Given the description of an element on the screen output the (x, y) to click on. 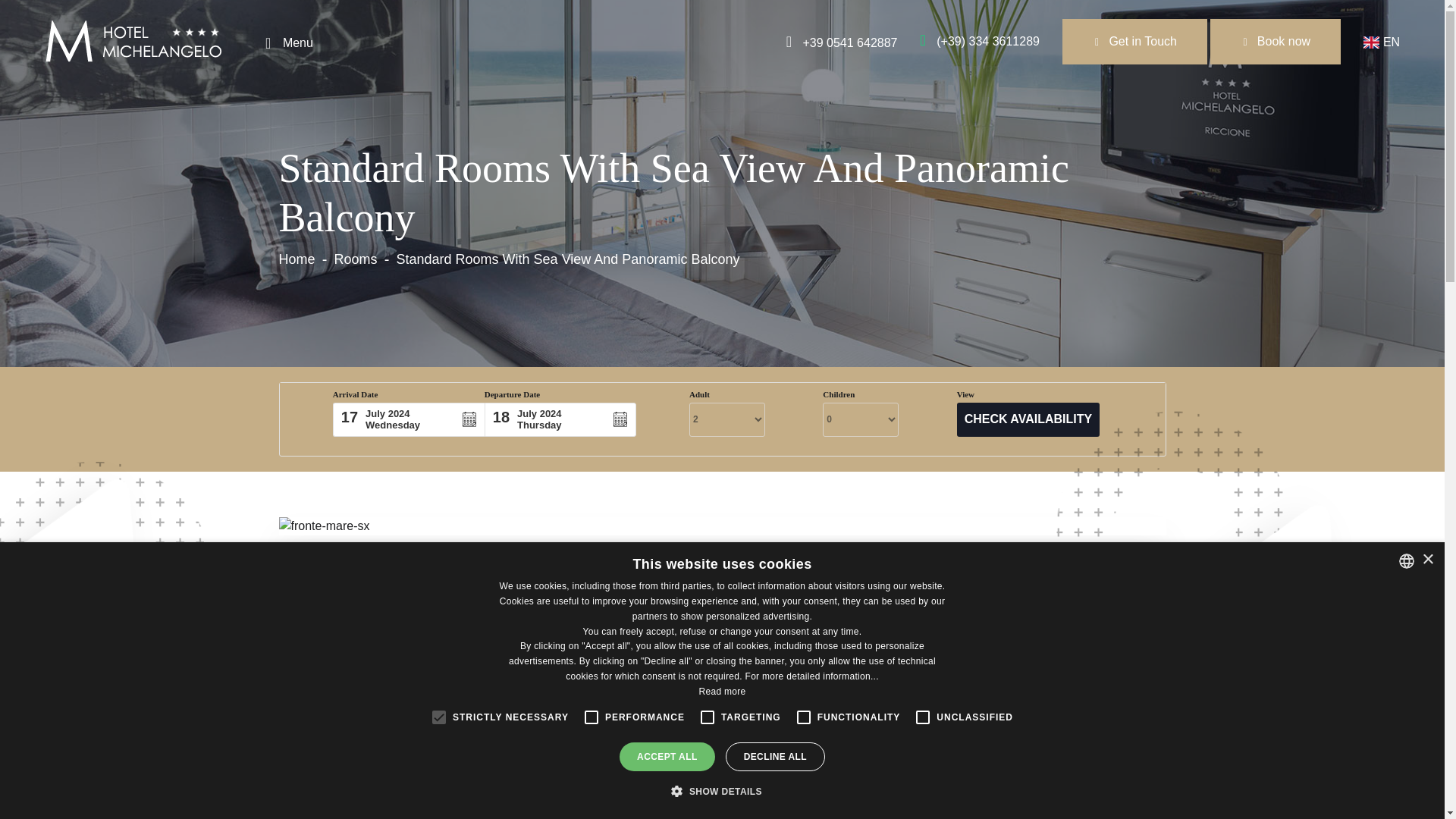
Hotel Michelangelo (132, 40)
  Get in Touch (1134, 41)
  Book now (1274, 41)
EN   (1384, 42)
Hotel Michelangelo (132, 40)
